Given the description of an element on the screen output the (x, y) to click on. 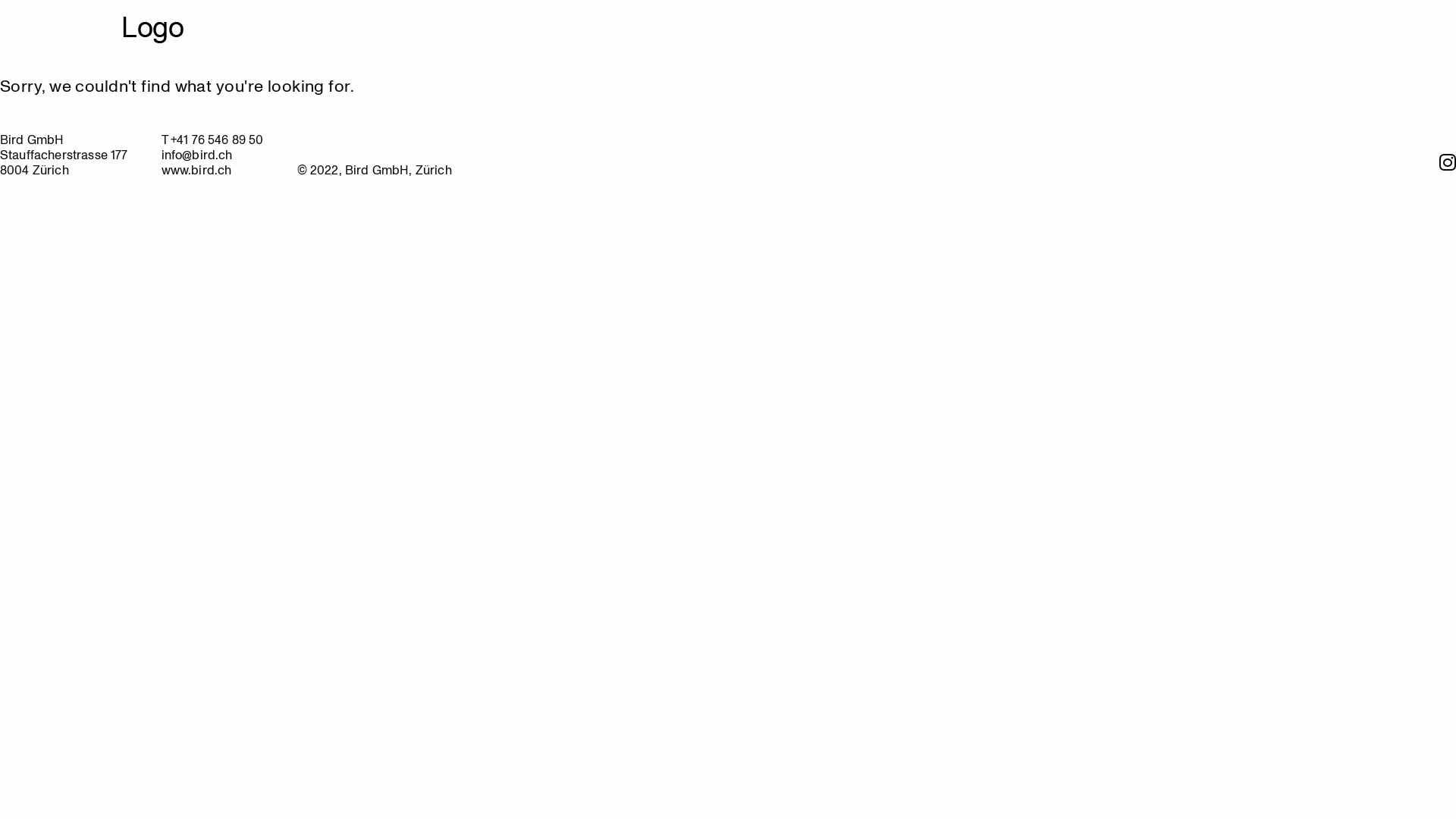
info@bird.ch Element type: text (196, 154)
www.bird.ch Element type: text (196, 169)
